Given the description of an element on the screen output the (x, y) to click on. 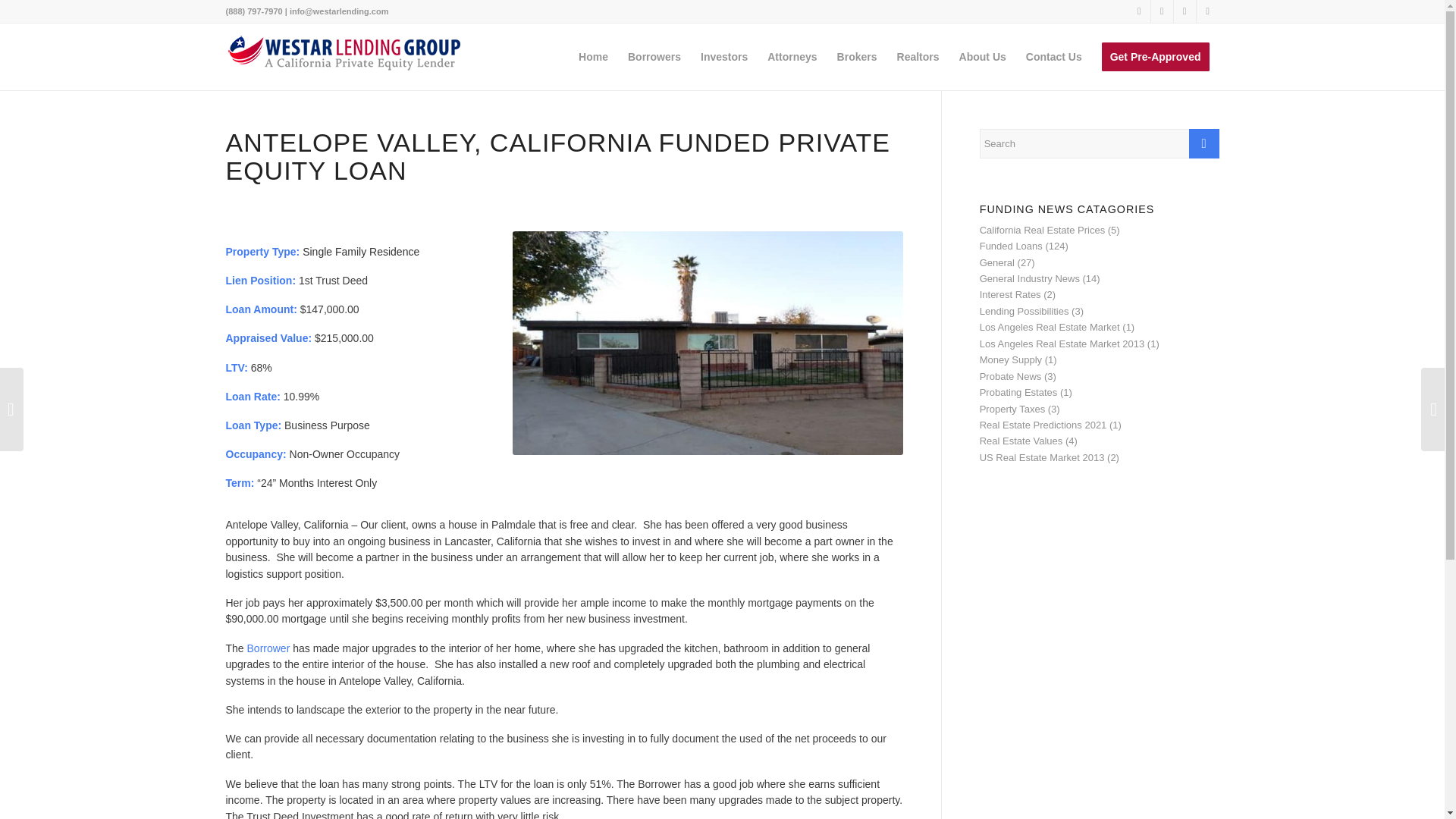
About Us (982, 56)
Borrowers (653, 56)
Brokers (856, 56)
General Industry News (1029, 278)
LinkedIn (1184, 11)
Investors (723, 56)
California Real Estate Prices (1042, 229)
Realtors (917, 56)
Contact Us (1054, 56)
Get Pre-Approved (1156, 56)
